Given the description of an element on the screen output the (x, y) to click on. 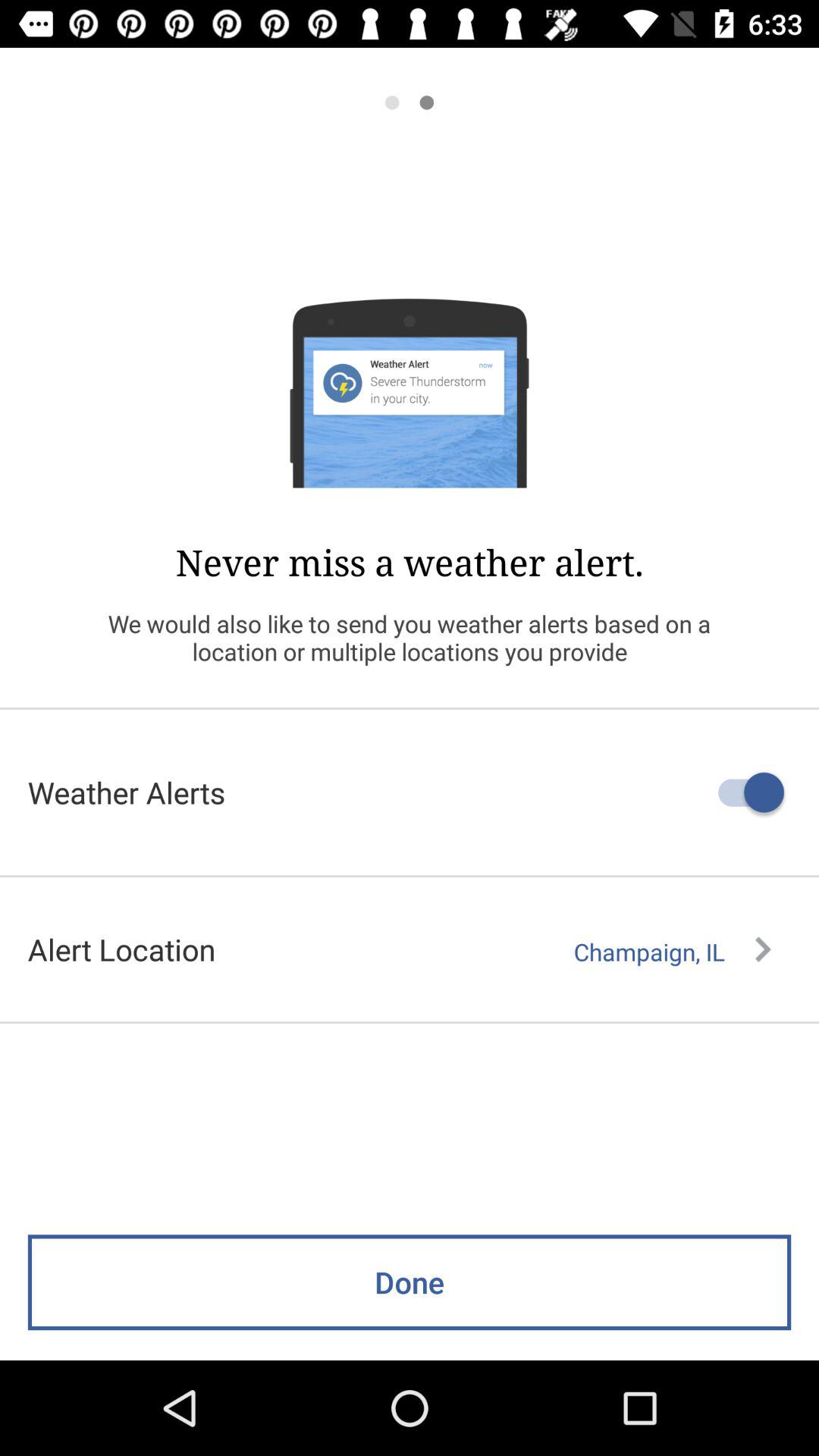
press icon to the right of alert location (672, 951)
